Given the description of an element on the screen output the (x, y) to click on. 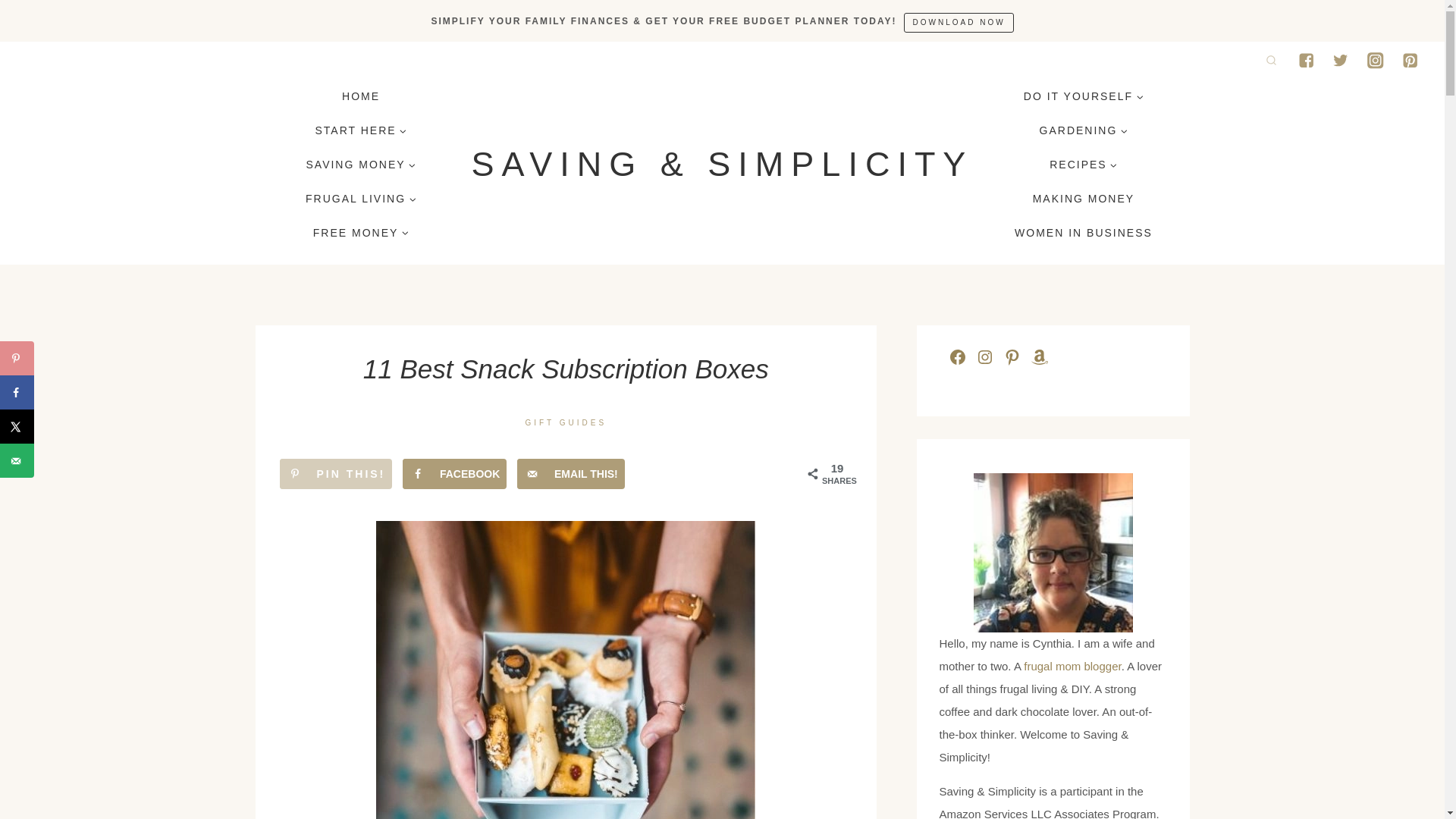
SAVING MONEY (360, 164)
HOME (361, 96)
GARDENING (1083, 130)
Save to Pinterest (16, 358)
RECIPES (1083, 164)
Share on Facebook (16, 392)
FRUGAL LIVING (360, 197)
FREE MONEY (360, 232)
Save to Pinterest (335, 473)
DOWNLOAD NOW (958, 21)
Send over email (570, 473)
Share on Facebook (454, 473)
START HERE (360, 130)
DO IT YOURSELF (1083, 96)
MAKING MONEY (1083, 197)
